Given the description of an element on the screen output the (x, y) to click on. 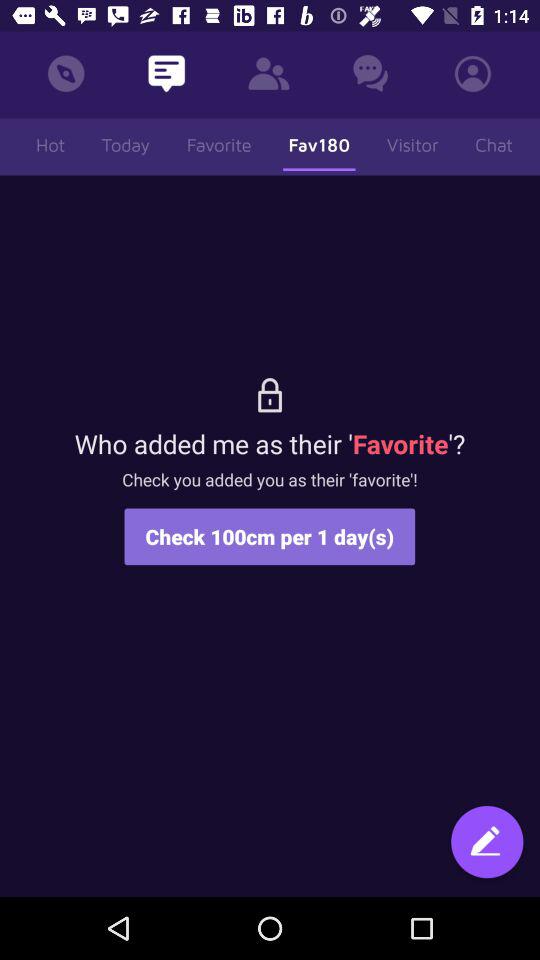
new text (487, 844)
